Given the description of an element on the screen output the (x, y) to click on. 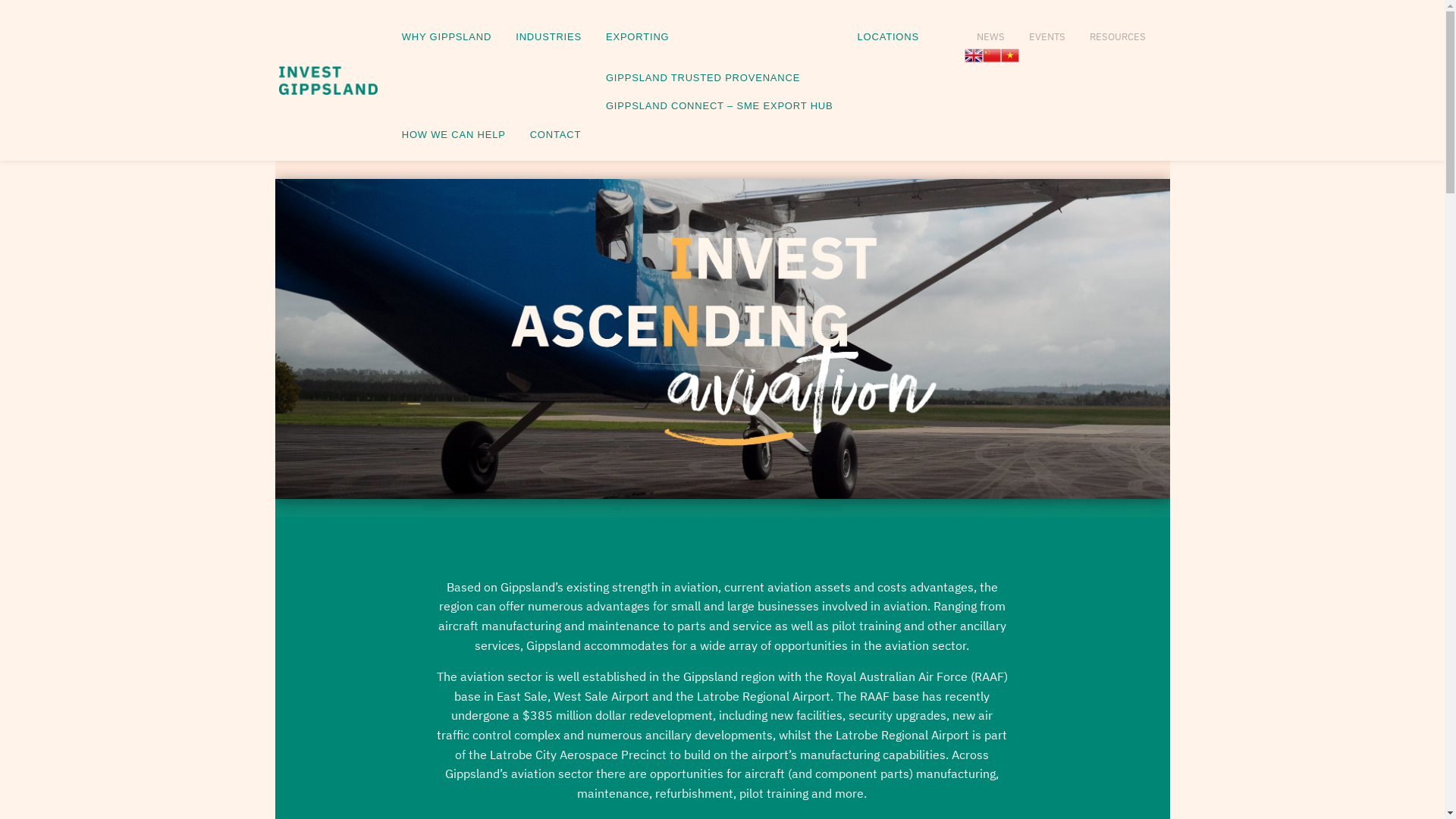
HOW WE CAN HELP Element type: text (453, 134)
CONTACT Element type: text (555, 134)
English Element type: hover (973, 53)
EXPORTING Element type: text (719, 37)
RESOURCES Element type: text (1117, 32)
INDUSTRIES Element type: text (548, 37)
Vietnamese Element type: hover (1010, 53)
EVENTS Element type: text (1046, 32)
GIPPSLAND TRUSTED PROVENANCE Element type: text (719, 78)
WHY GIPPSLAND Element type: text (446, 37)
Chinese (Simplified) Element type: hover (991, 53)
NEWS Element type: text (990, 32)
LOCATIONS Element type: text (887, 37)
